Given the description of an element on the screen output the (x, y) to click on. 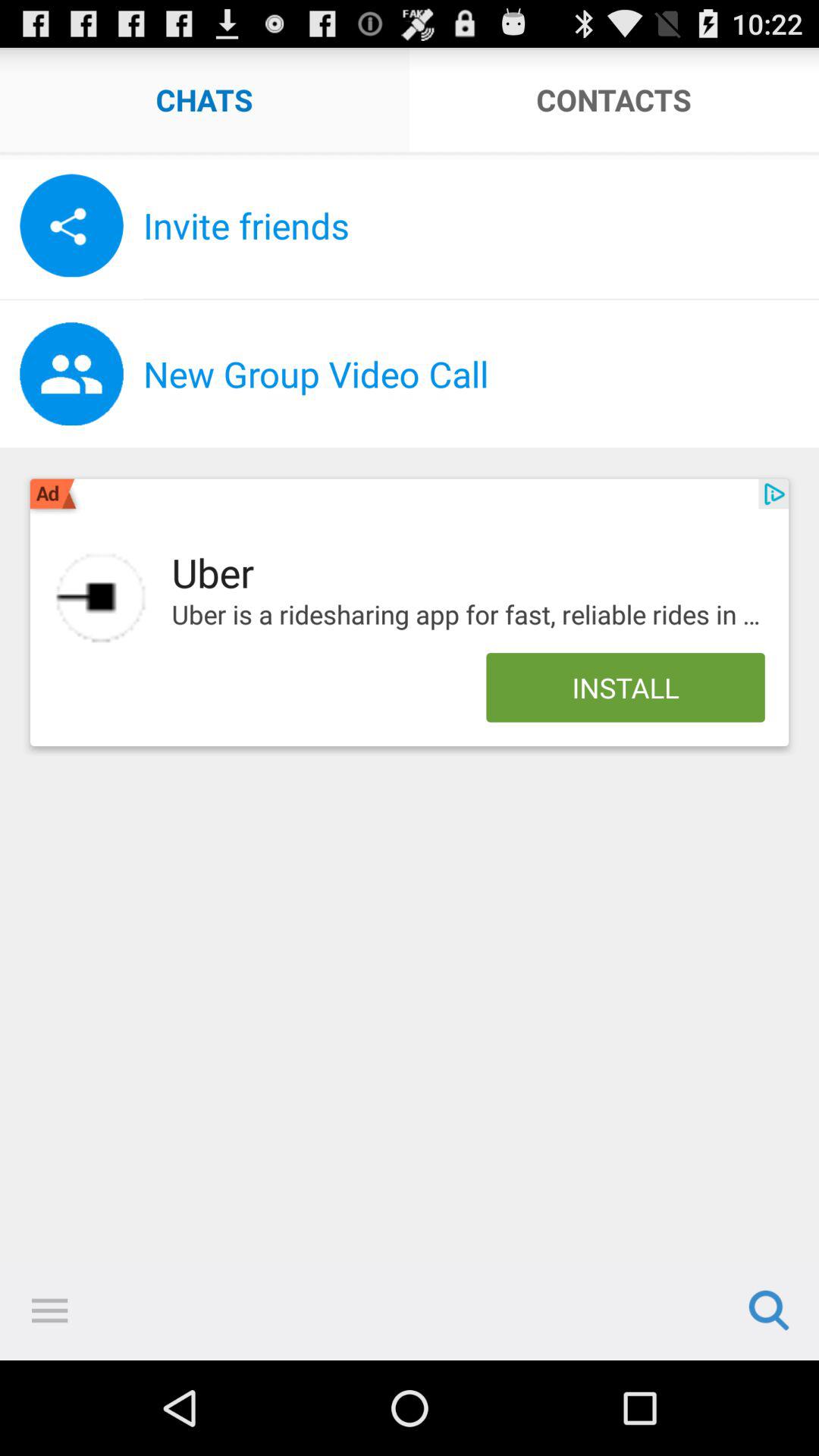
open item below invite friends (481, 298)
